Given the description of an element on the screen output the (x, y) to click on. 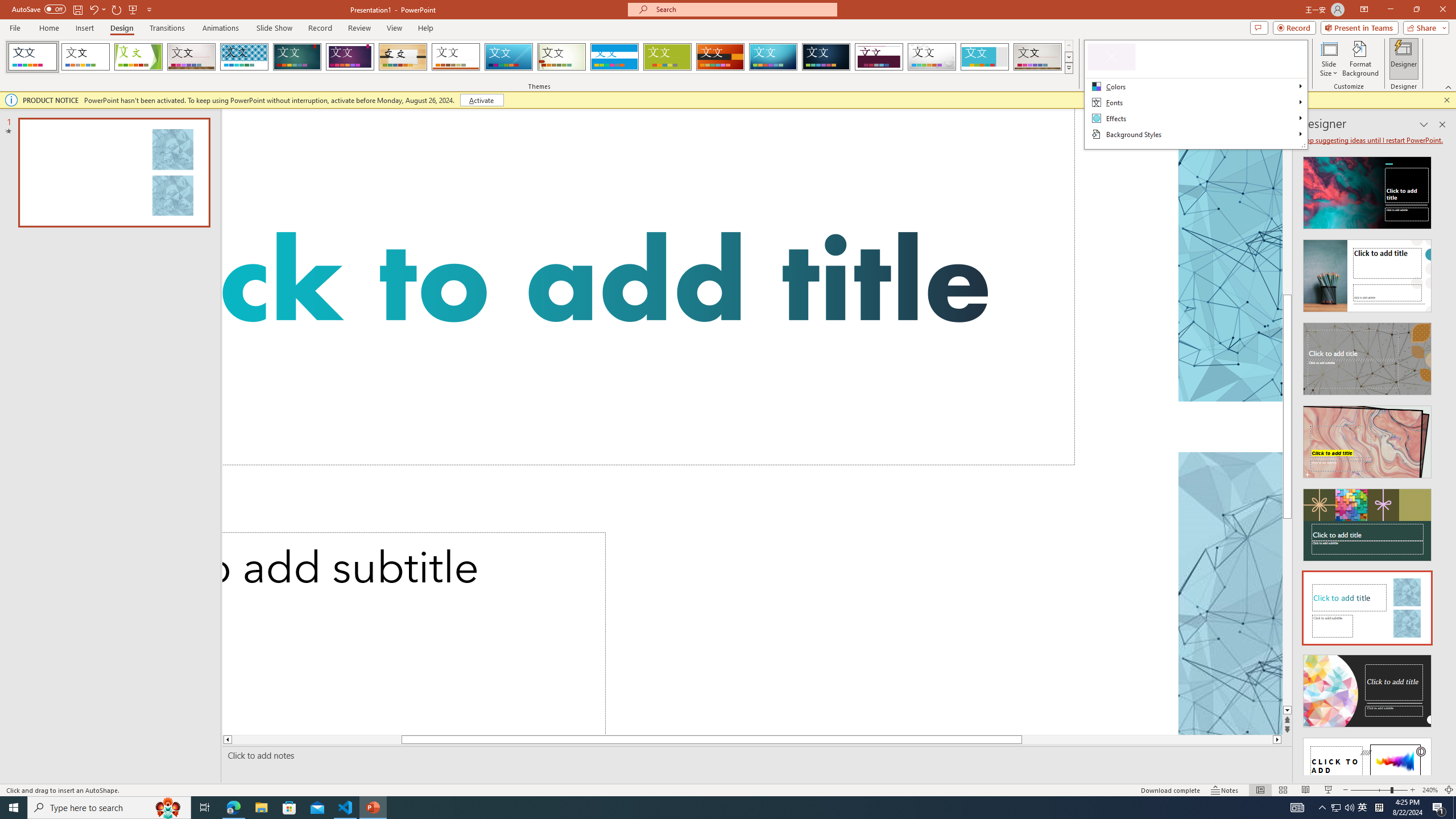
Class: Net UI Tool Window (1195, 94)
AutomationID: SlideThemesGallery (539, 56)
